Given the description of an element on the screen output the (x, y) to click on. 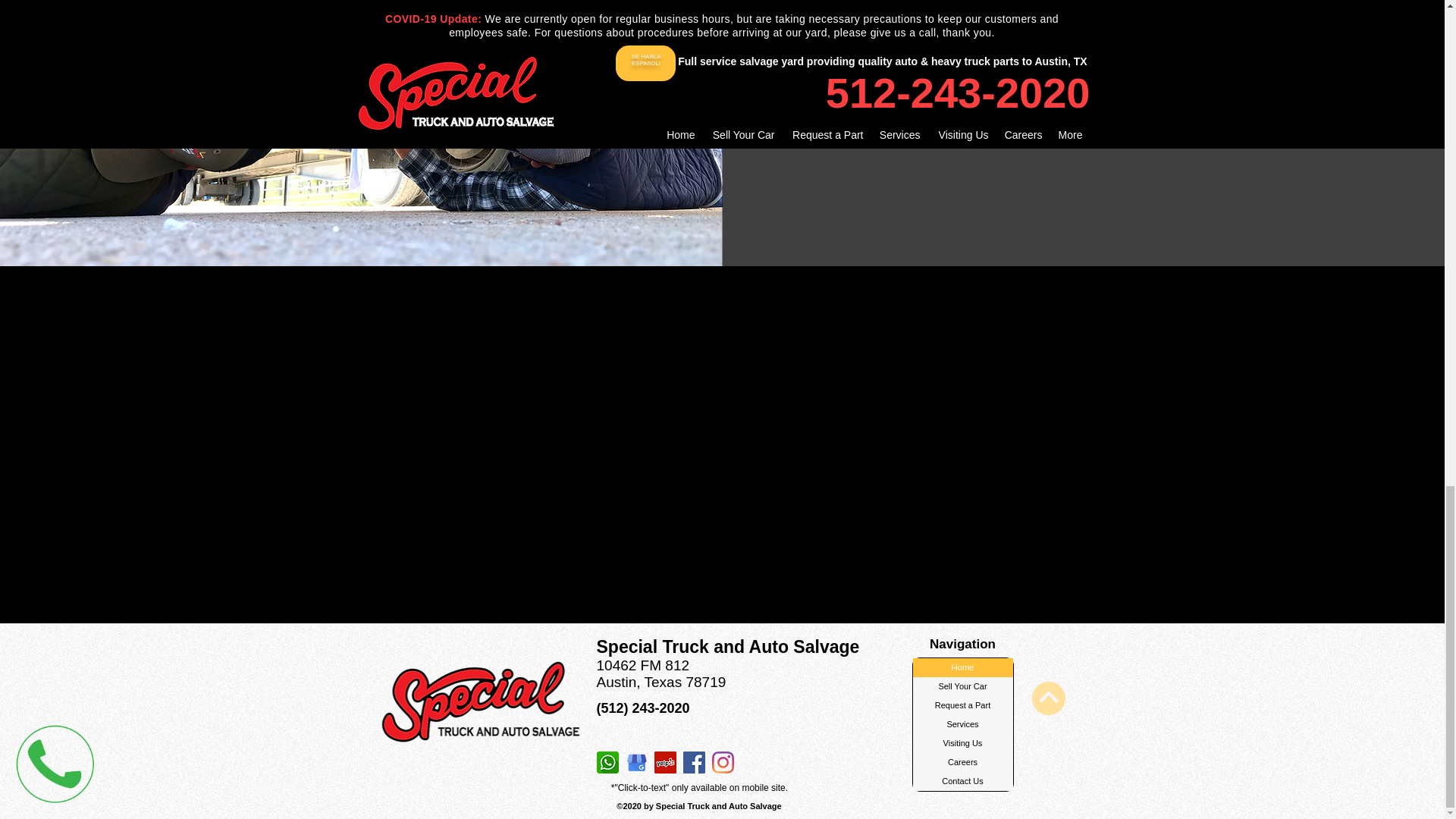
Request a Part (962, 705)
Home (962, 667)
Austin, Texas 78719 (660, 682)
Embedded Content (772, 762)
10462 FM 812 (641, 665)
Sell Your Car (962, 686)
Services (962, 723)
